Given the description of an element on the screen output the (x, y) to click on. 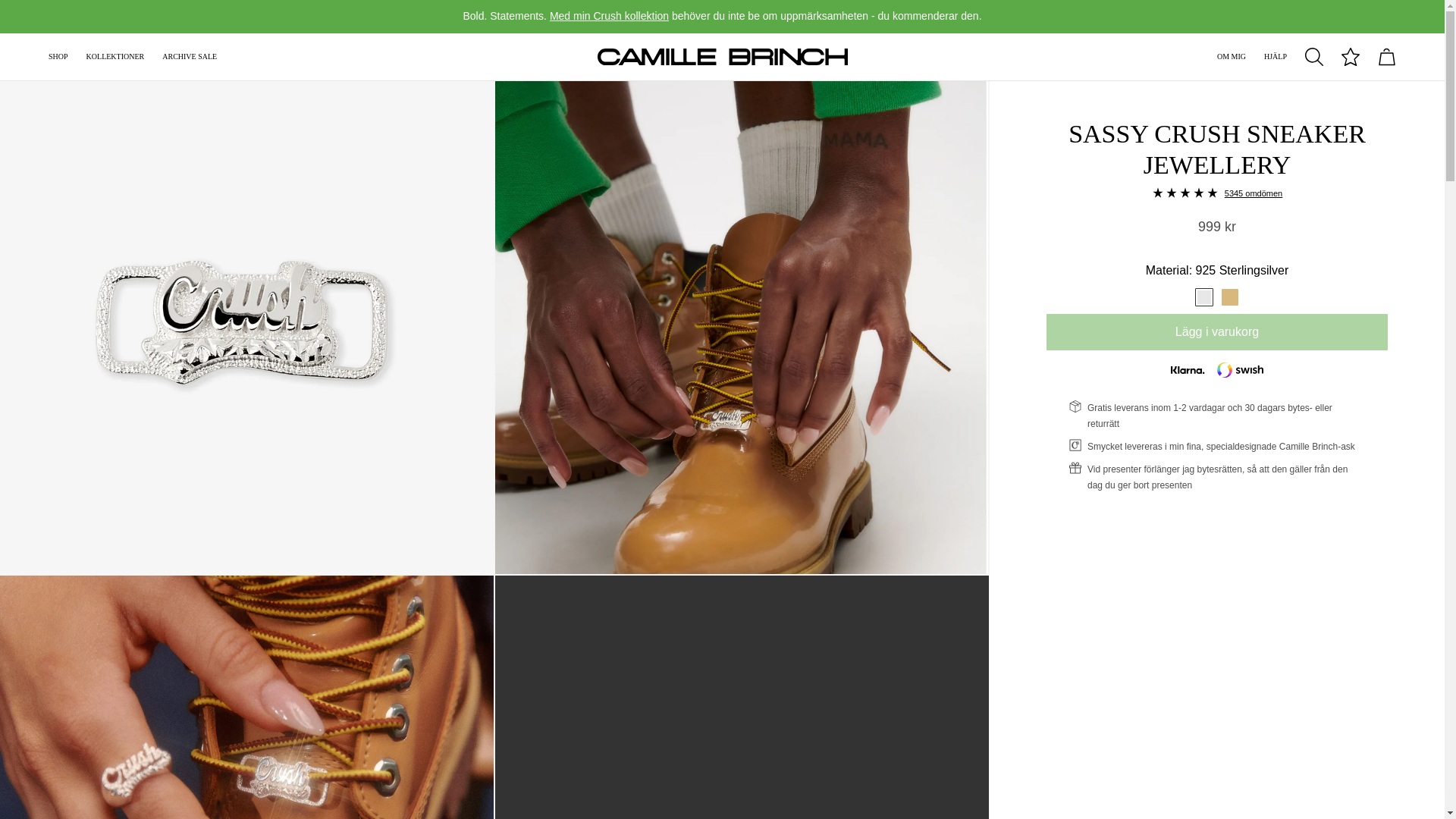
View cart (1386, 56)
Crush (609, 15)
KOLLEKTIONER (115, 56)
Search site (1313, 56)
Med min Crush kollektion (609, 15)
View wishlist (1349, 56)
